Given the description of an element on the screen output the (x, y) to click on. 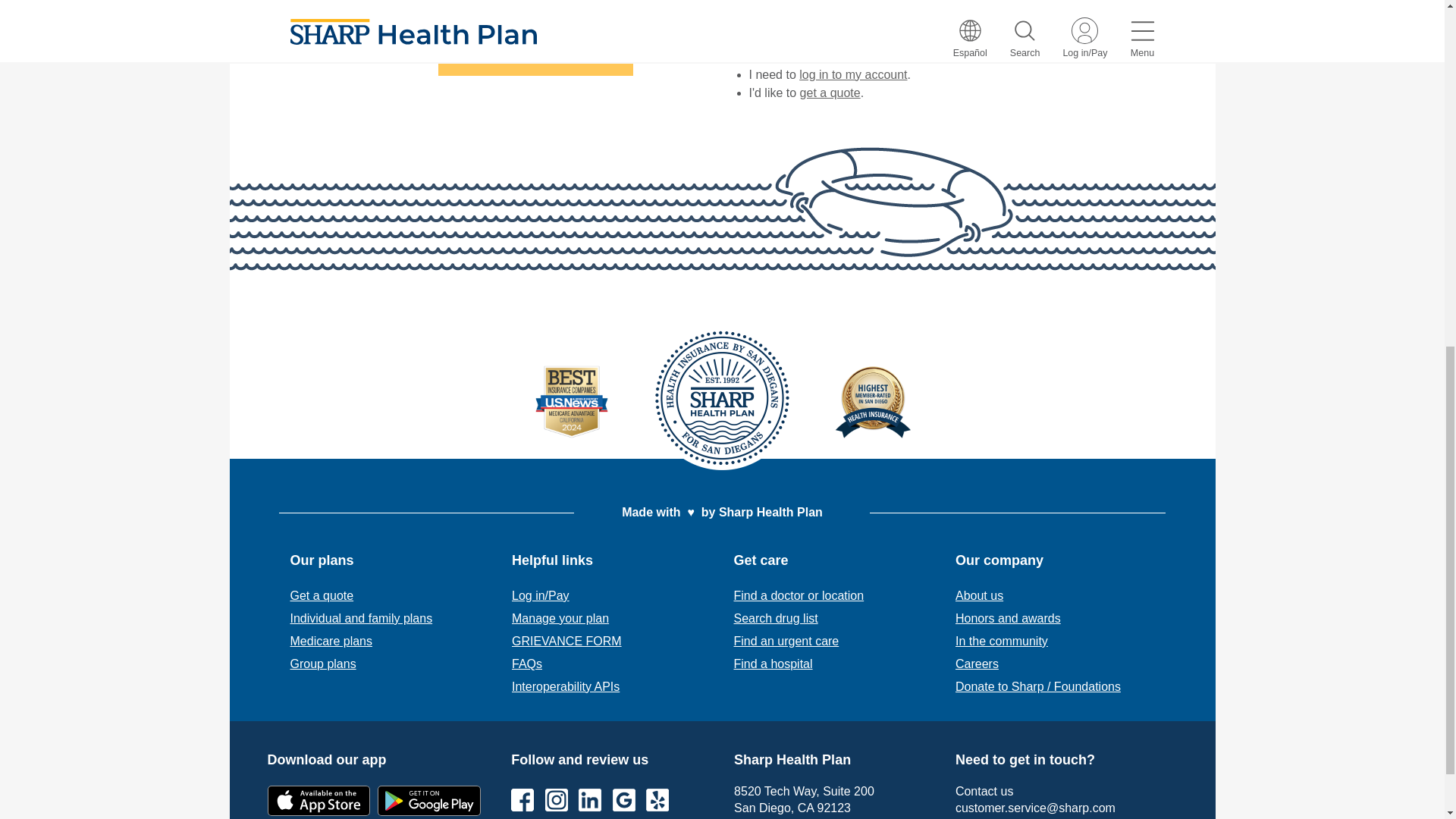
get a quote (829, 92)
BACK TO THE HOMEPAGE (535, 57)
make a payment (843, 56)
log in to my account (853, 74)
File a complaint, appeal or grievance (566, 640)
